Given the description of an element on the screen output the (x, y) to click on. 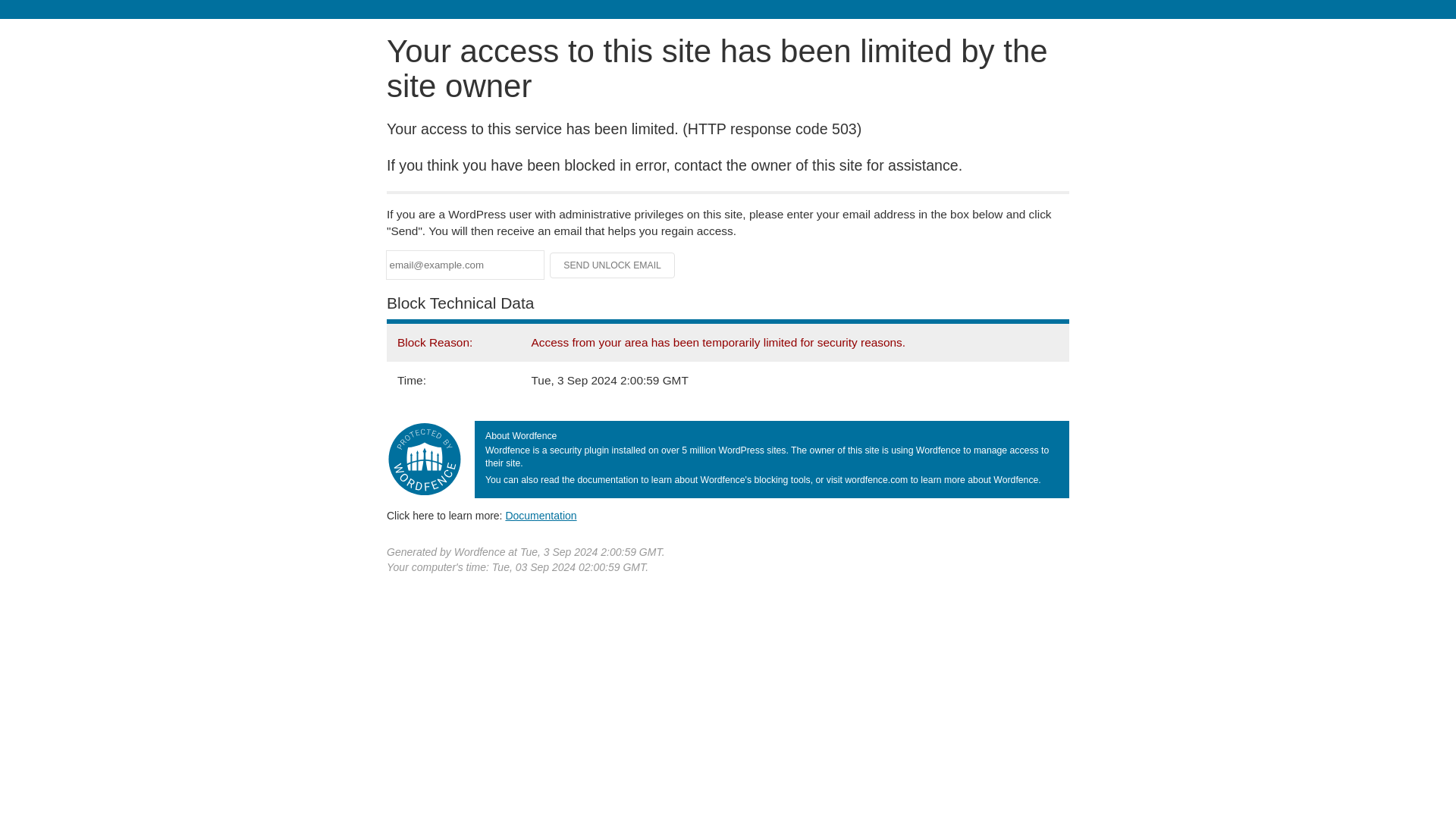
Send Unlock Email (612, 265)
Send Unlock Email (612, 265)
Documentation (540, 515)
